Given the description of an element on the screen output the (x, y) to click on. 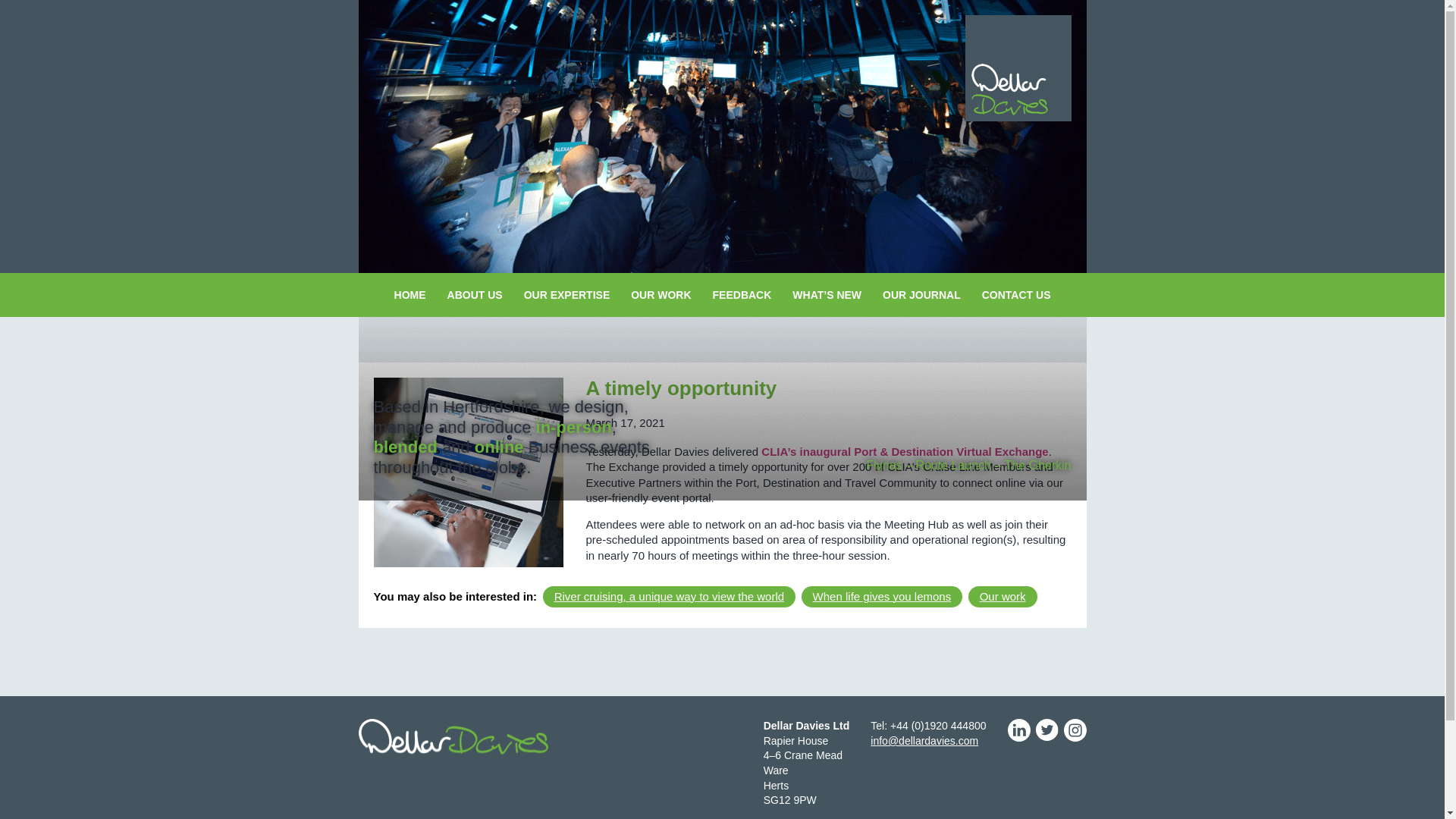
OUR WORK (660, 294)
When life gives you lemons (882, 595)
CONTACT US (1016, 294)
HOME (410, 294)
ABOUT US (474, 294)
OUR JOURNAL (921, 294)
Our work (1002, 595)
FEEDBACK (742, 294)
OUR EXPERTISE (567, 294)
River cruising, a unique way to view the world (669, 595)
